Given the description of an element on the screen output the (x, y) to click on. 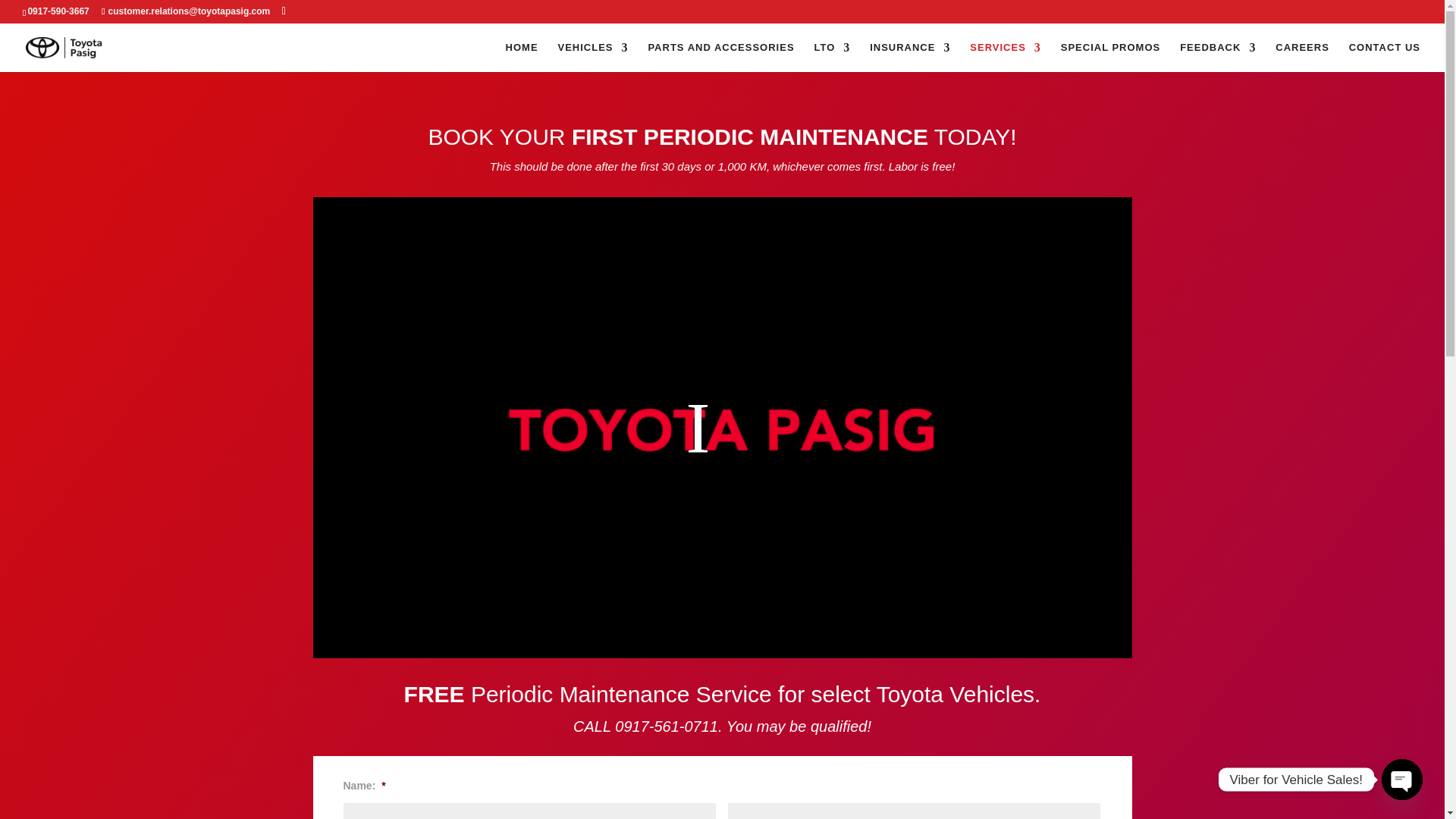
FEEDBACK (1217, 57)
LTO (831, 57)
INSURANCE (909, 57)
SERVICES (1005, 57)
CONTACT US (1385, 57)
CAREERS (1302, 57)
HOME (521, 57)
SPECIAL PROMOS (1110, 57)
PARTS AND ACCESSORIES (720, 57)
VEHICLES (592, 57)
